Given the description of an element on the screen output the (x, y) to click on. 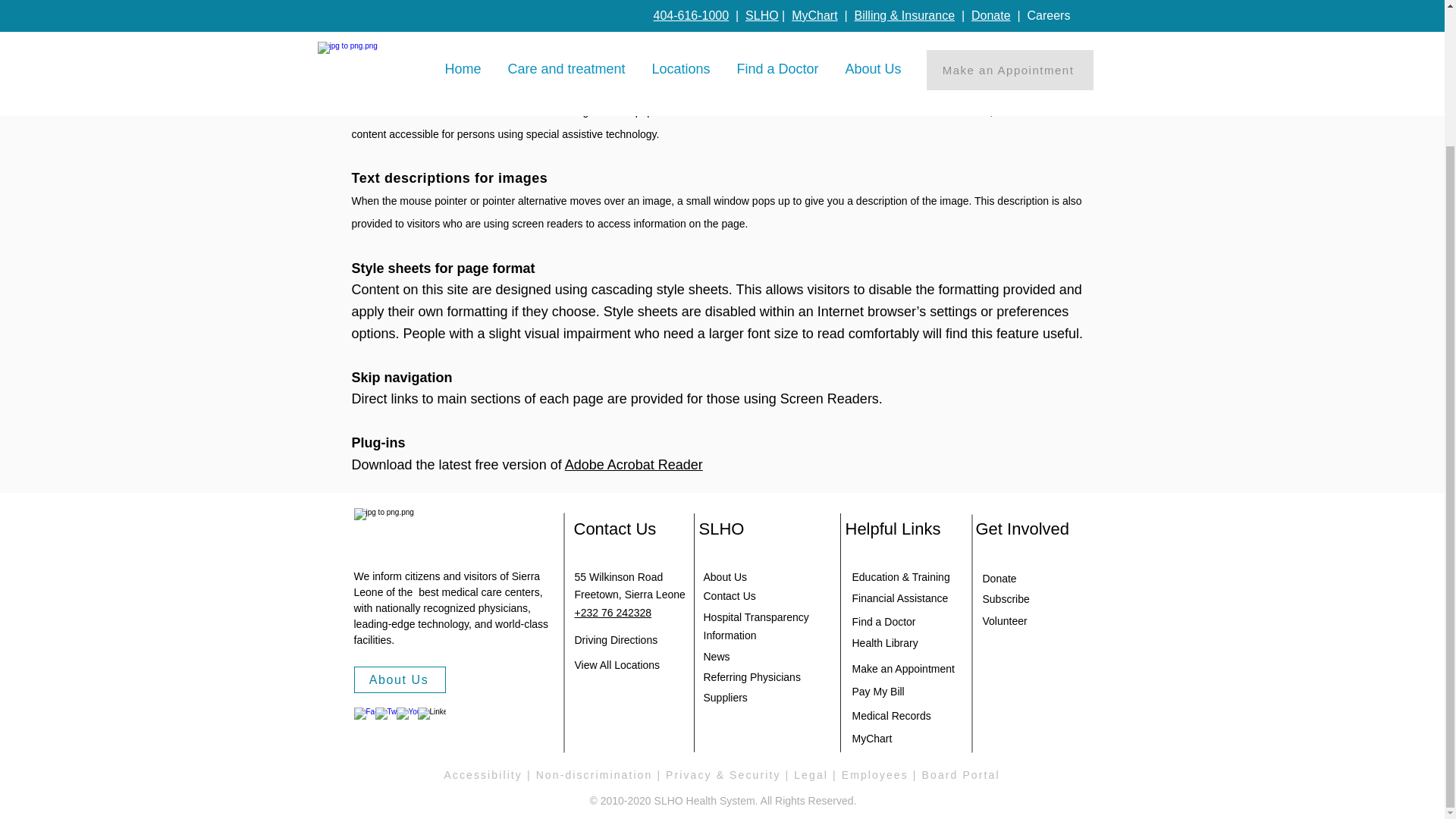
Employees (874, 775)
Non-discrimination (593, 775)
About Us (399, 679)
Accessibility (483, 775)
Legal (812, 775)
Adobe Acrobat Reader (633, 464)
